Given the description of an element on the screen output the (x, y) to click on. 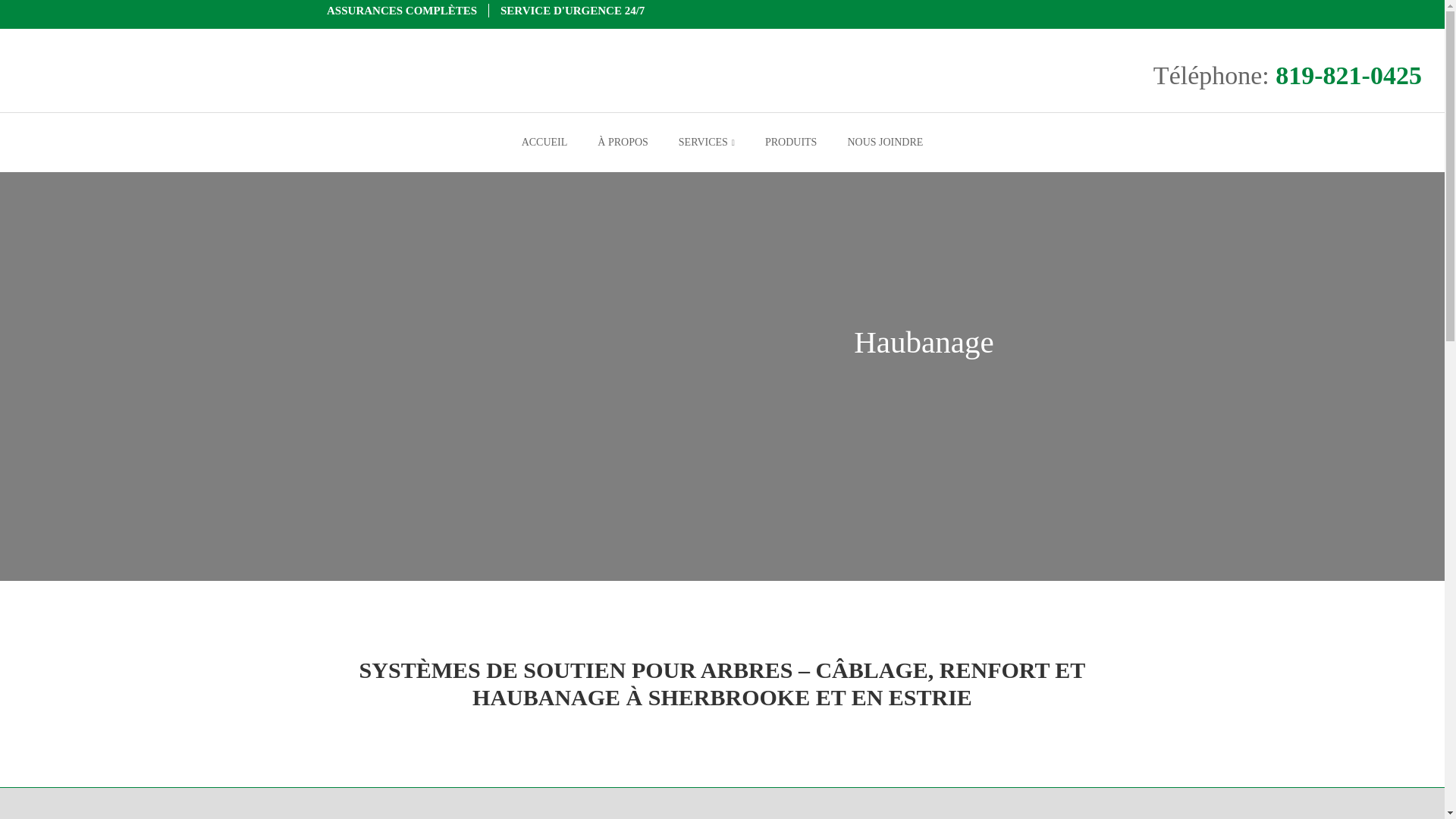
819-821-0425 Element type: text (1348, 75)
SERVICES Element type: text (706, 141)
PRODUITS Element type: text (790, 141)
NOUS JOINDRE Element type: text (884, 141)
ACCUEIL Element type: text (544, 141)
Ignorer la navigation Element type: text (55, 7)
